Given the description of an element on the screen output the (x, y) to click on. 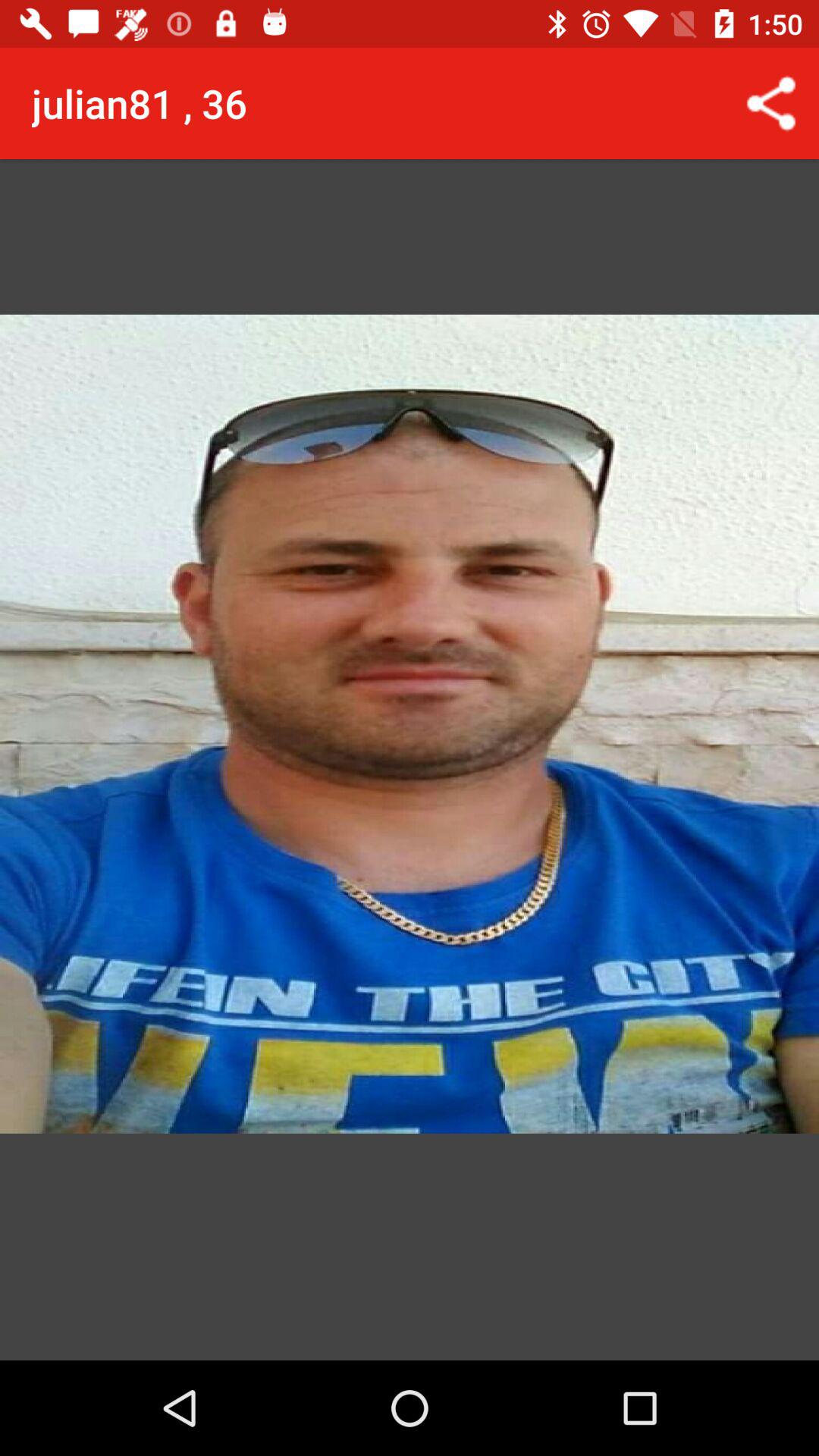
click item at the top right corner (771, 103)
